Given the description of an element on the screen output the (x, y) to click on. 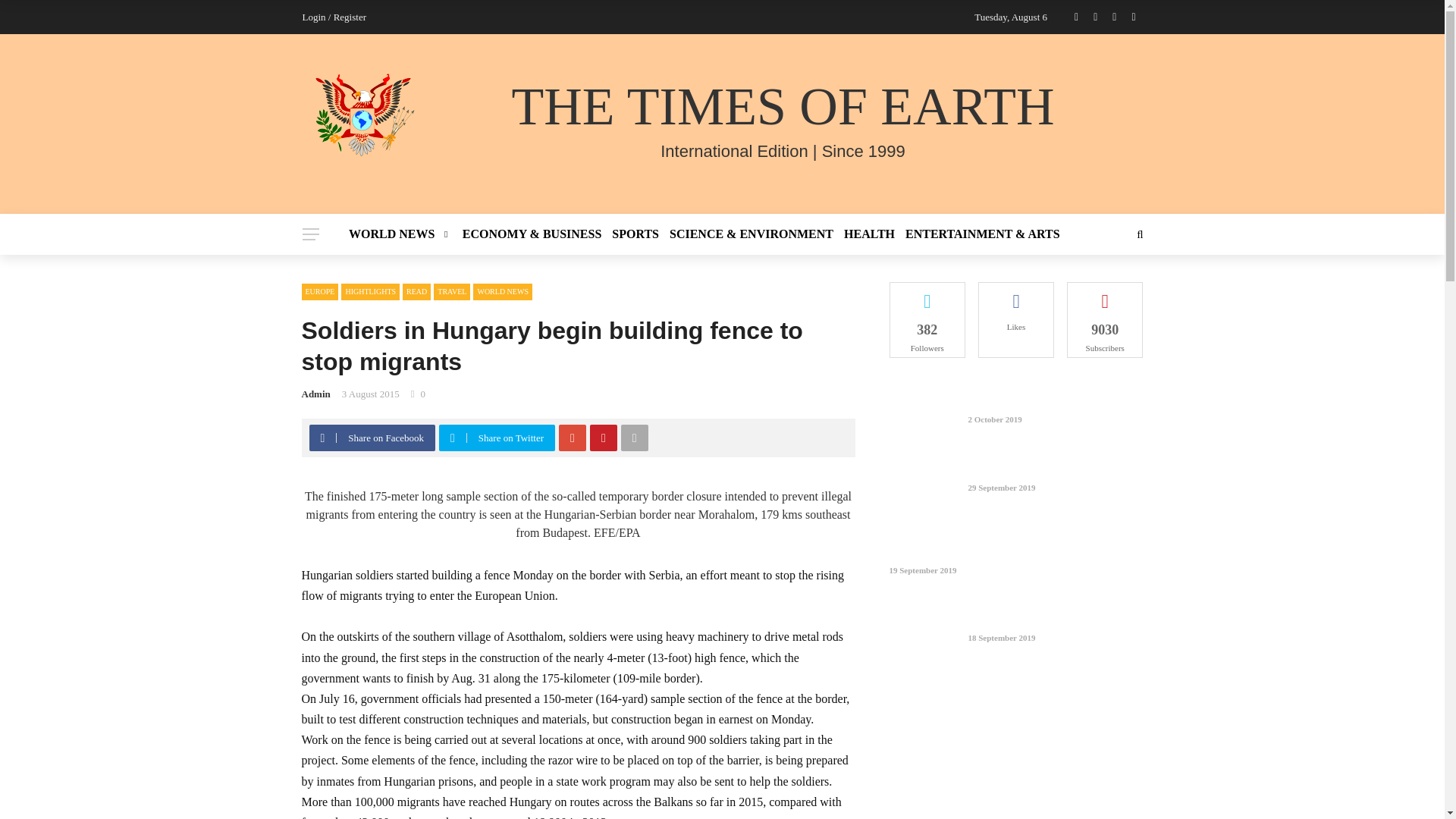
HEALTH (868, 233)
WORLD NEWS (403, 233)
SPORTS (635, 233)
